Given the description of an element on the screen output the (x, y) to click on. 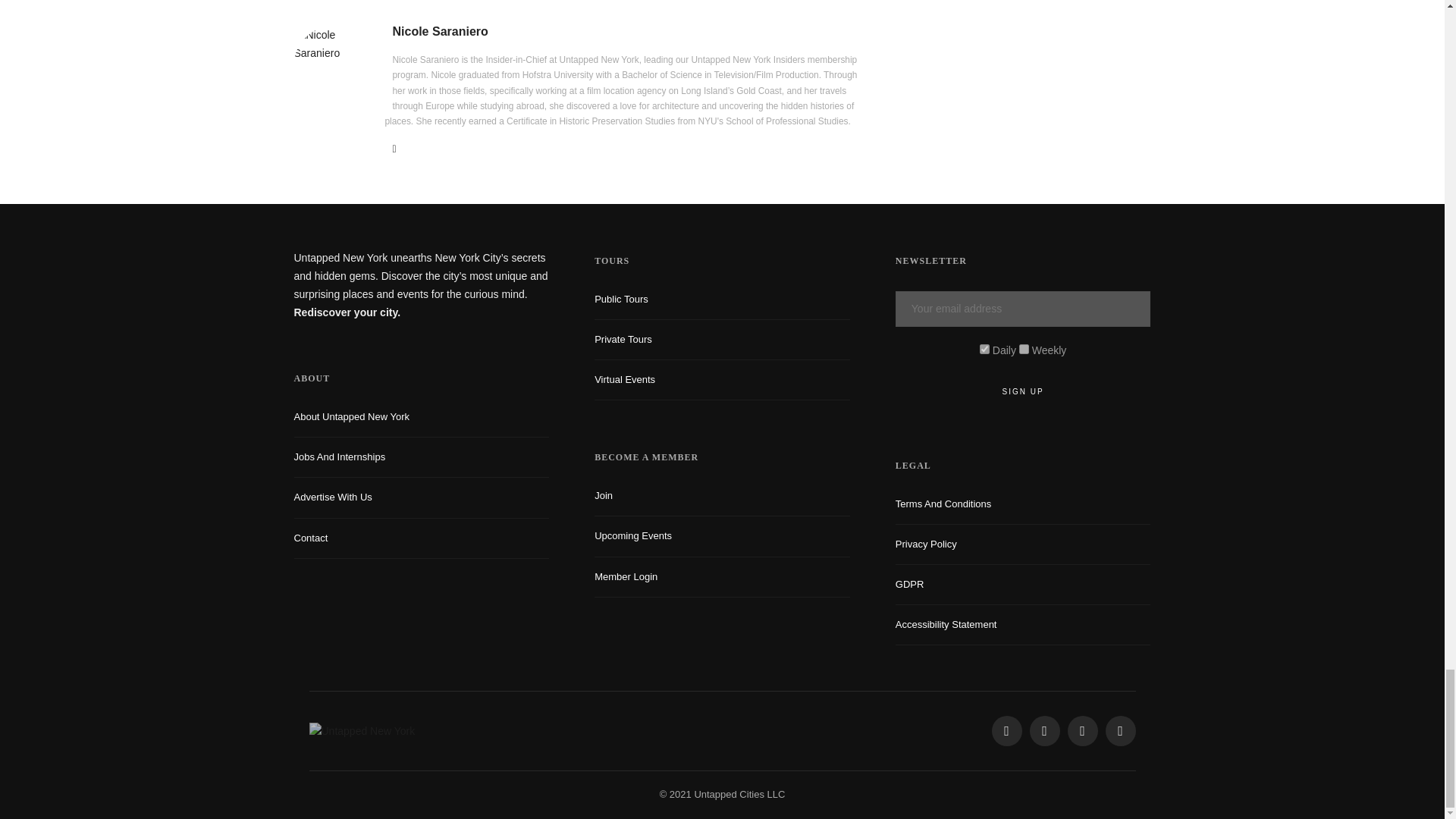
Sign up (1023, 391)
7cff6a70fd (1024, 348)
e99a09560c (984, 348)
